Given the description of an element on the screen output the (x, y) to click on. 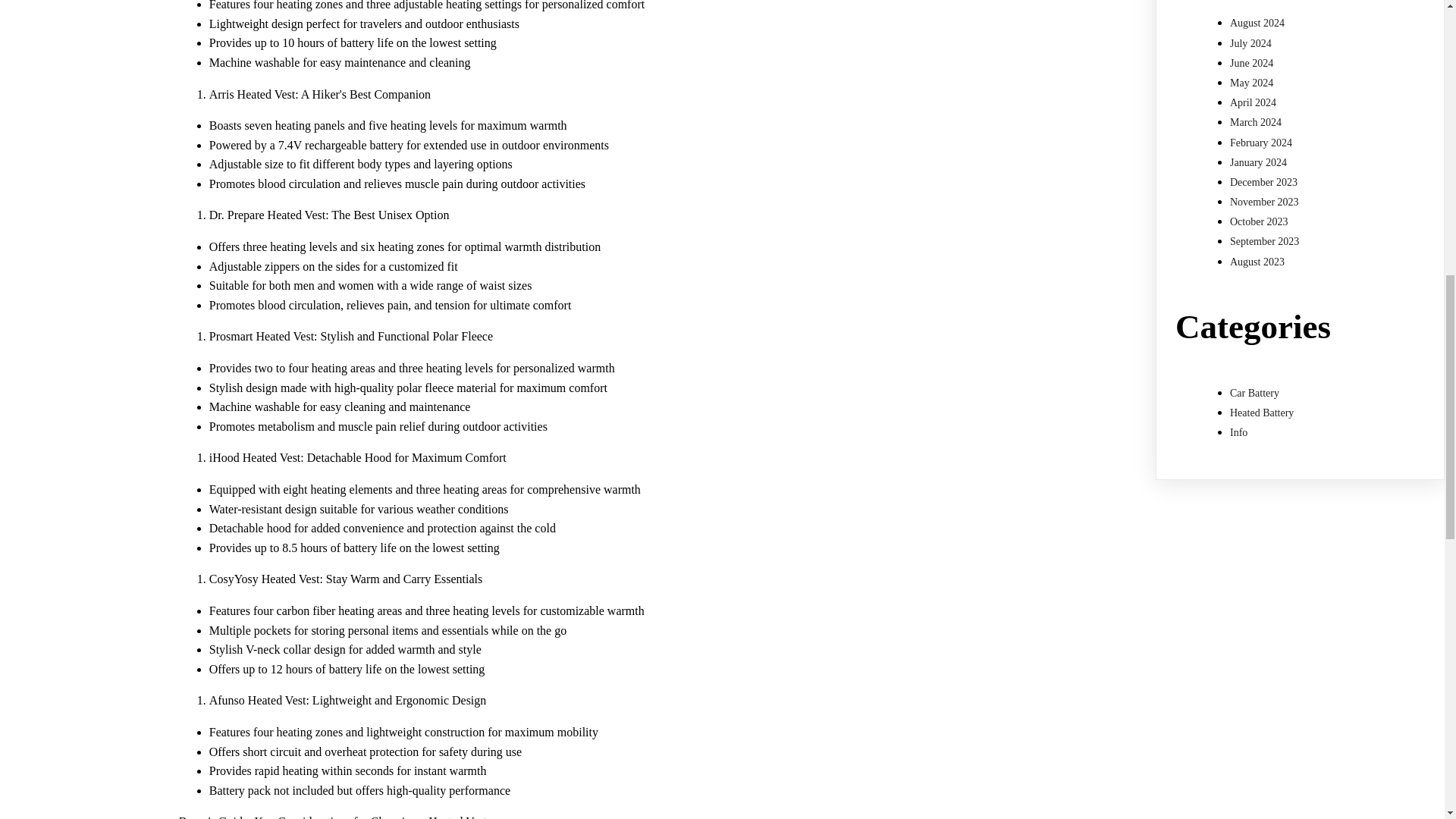
March 2024 (1255, 122)
August 2023 (1257, 261)
September 2023 (1264, 241)
Heated Battery (1262, 412)
December 2023 (1263, 182)
April 2024 (1253, 102)
February 2024 (1261, 142)
August 2024 (1257, 22)
Car Battery (1254, 392)
November 2023 (1264, 202)
